Given the description of an element on the screen output the (x, y) to click on. 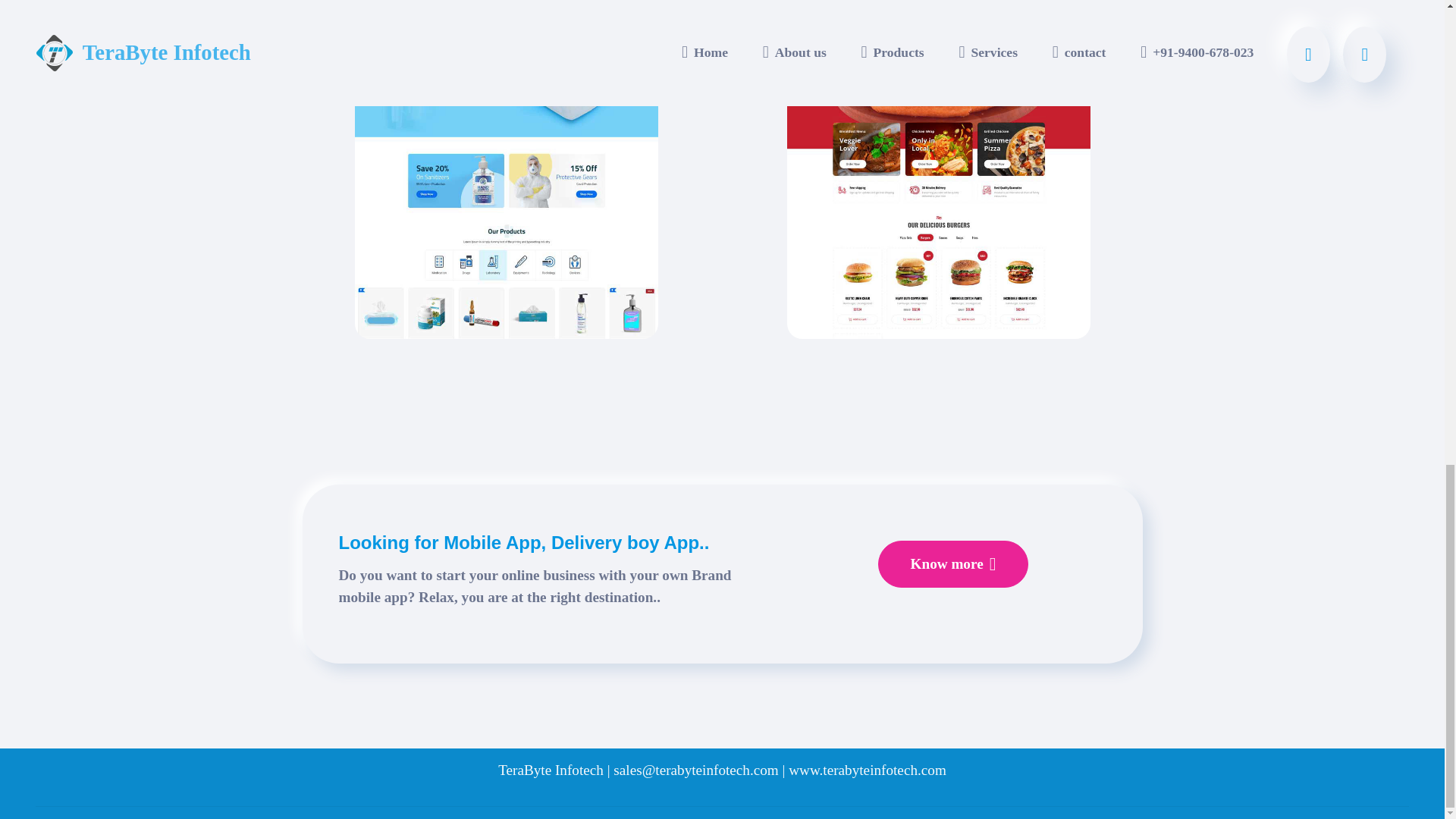
Know more (952, 564)
